Given the description of an element on the screen output the (x, y) to click on. 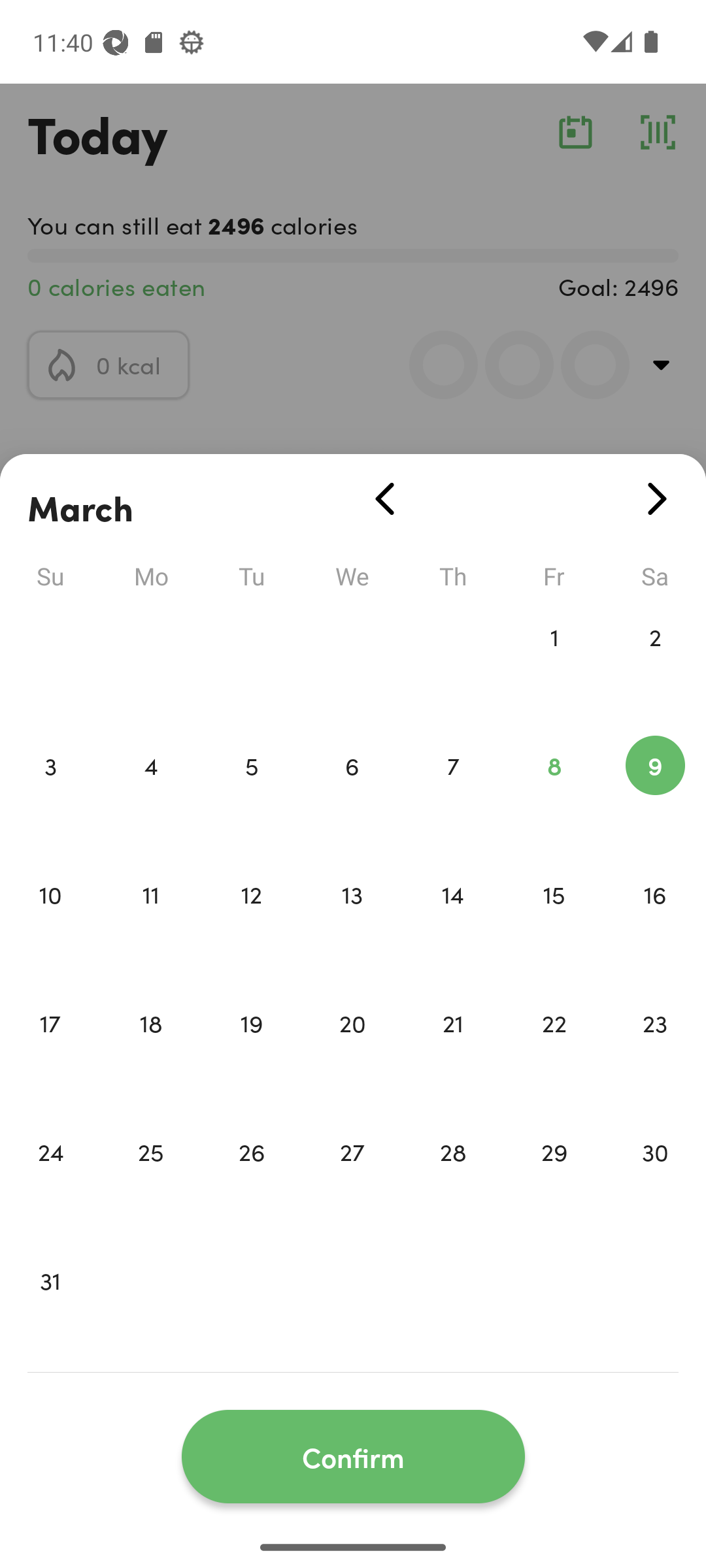
1 (554, 663)
2 (655, 663)
3 (50, 793)
4 (150, 793)
5 (251, 793)
6 (352, 793)
7 (453, 793)
8 (554, 793)
9 (655, 793)
10 (50, 921)
11 (150, 921)
12 (251, 921)
13 (352, 921)
14 (453, 921)
15 (554, 921)
16 (655, 921)
17 (50, 1050)
18 (150, 1050)
19 (251, 1050)
20 (352, 1050)
21 (453, 1050)
22 (554, 1050)
23 (655, 1050)
24 (50, 1178)
25 (150, 1178)
26 (251, 1178)
27 (352, 1178)
28 (453, 1178)
29 (554, 1178)
30 (655, 1178)
31 (50, 1307)
Confirm (353, 1456)
